Given the description of an element on the screen output the (x, y) to click on. 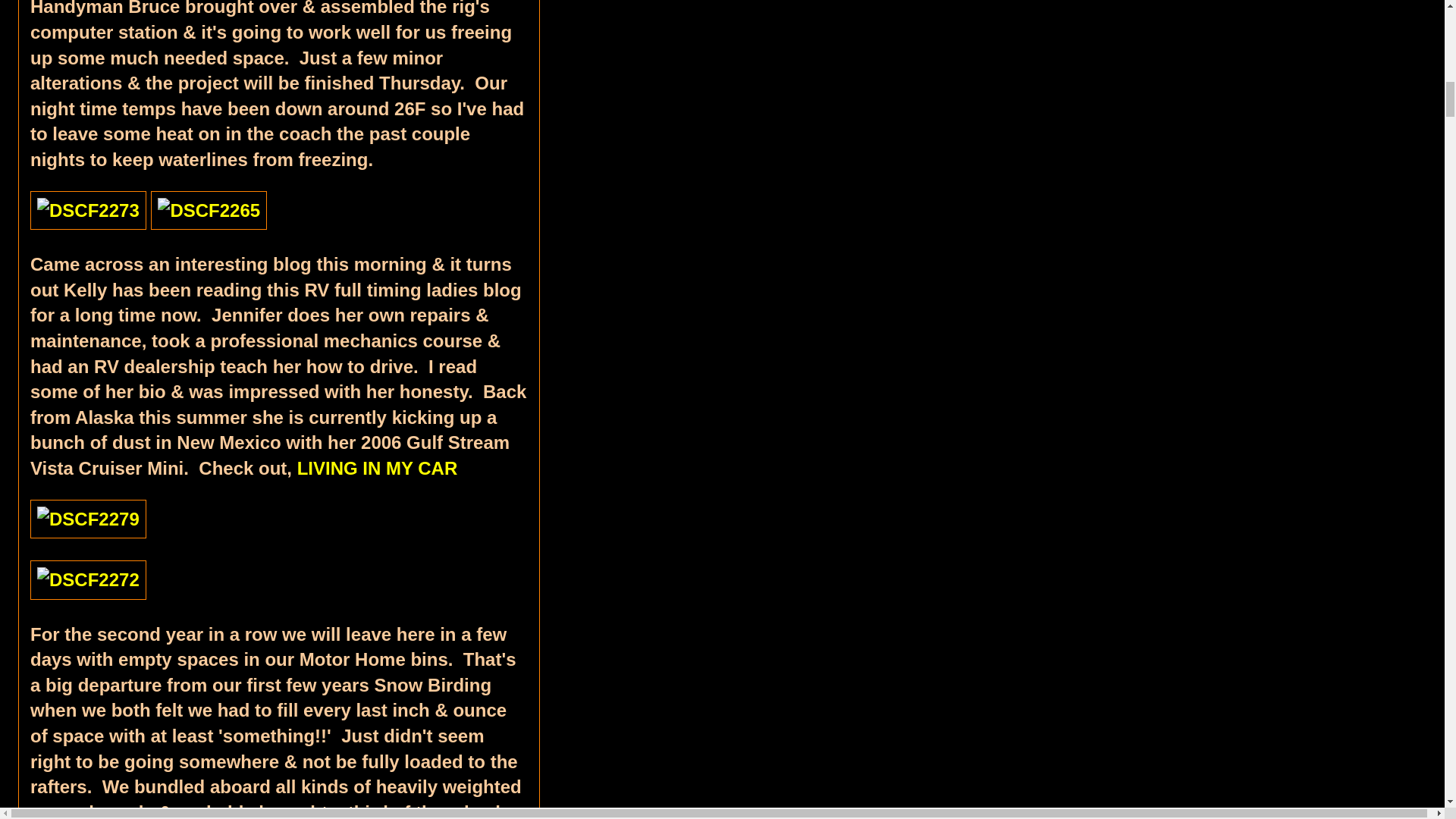
DSCF2265 (208, 210)
DSCF2279 (88, 518)
DSCF2272 (88, 579)
DSCF2273 (88, 210)
LIVING IN MY CAR (377, 467)
